Given the description of an element on the screen output the (x, y) to click on. 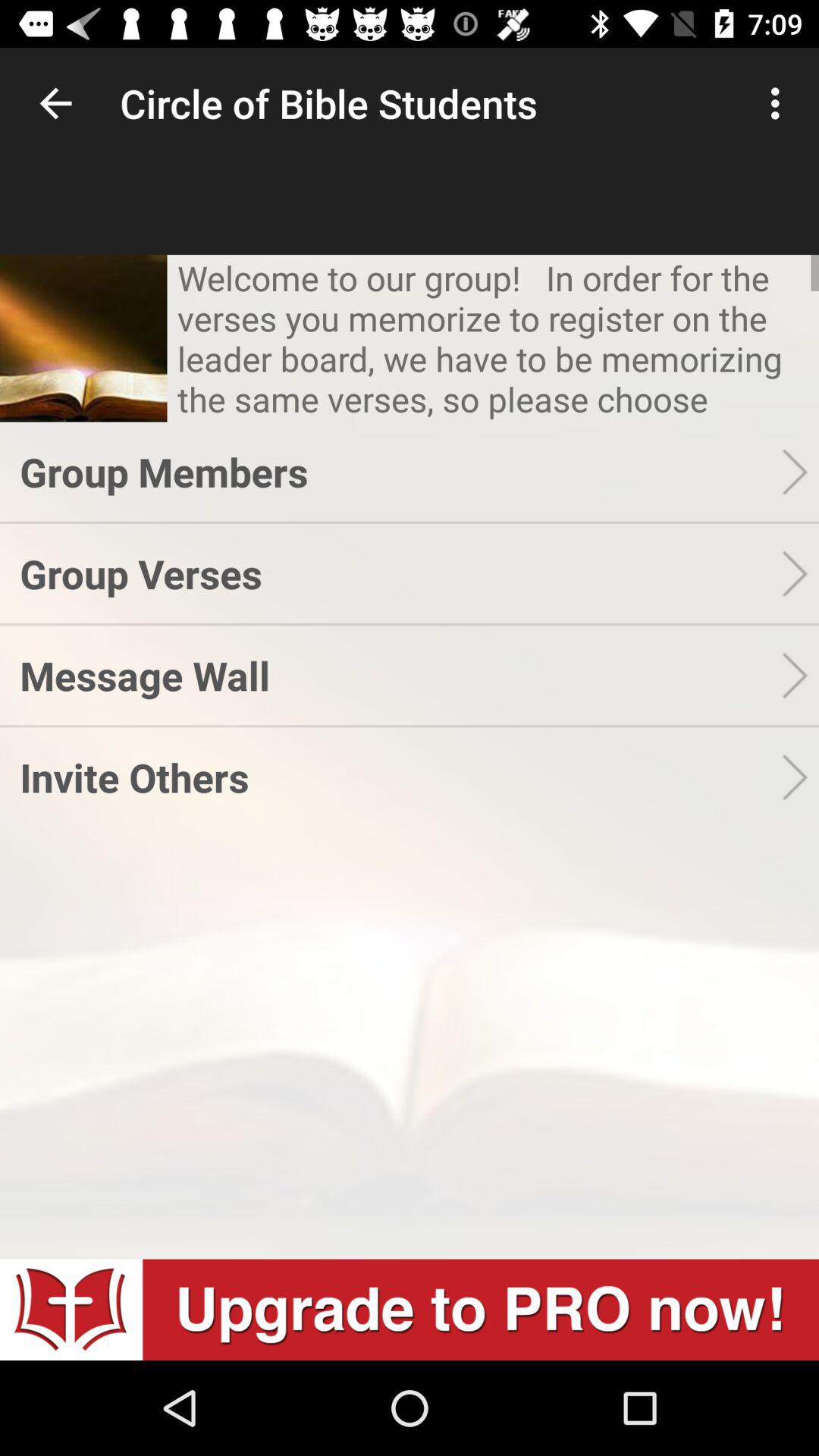
turn off group members item (399, 471)
